Given the description of an element on the screen output the (x, y) to click on. 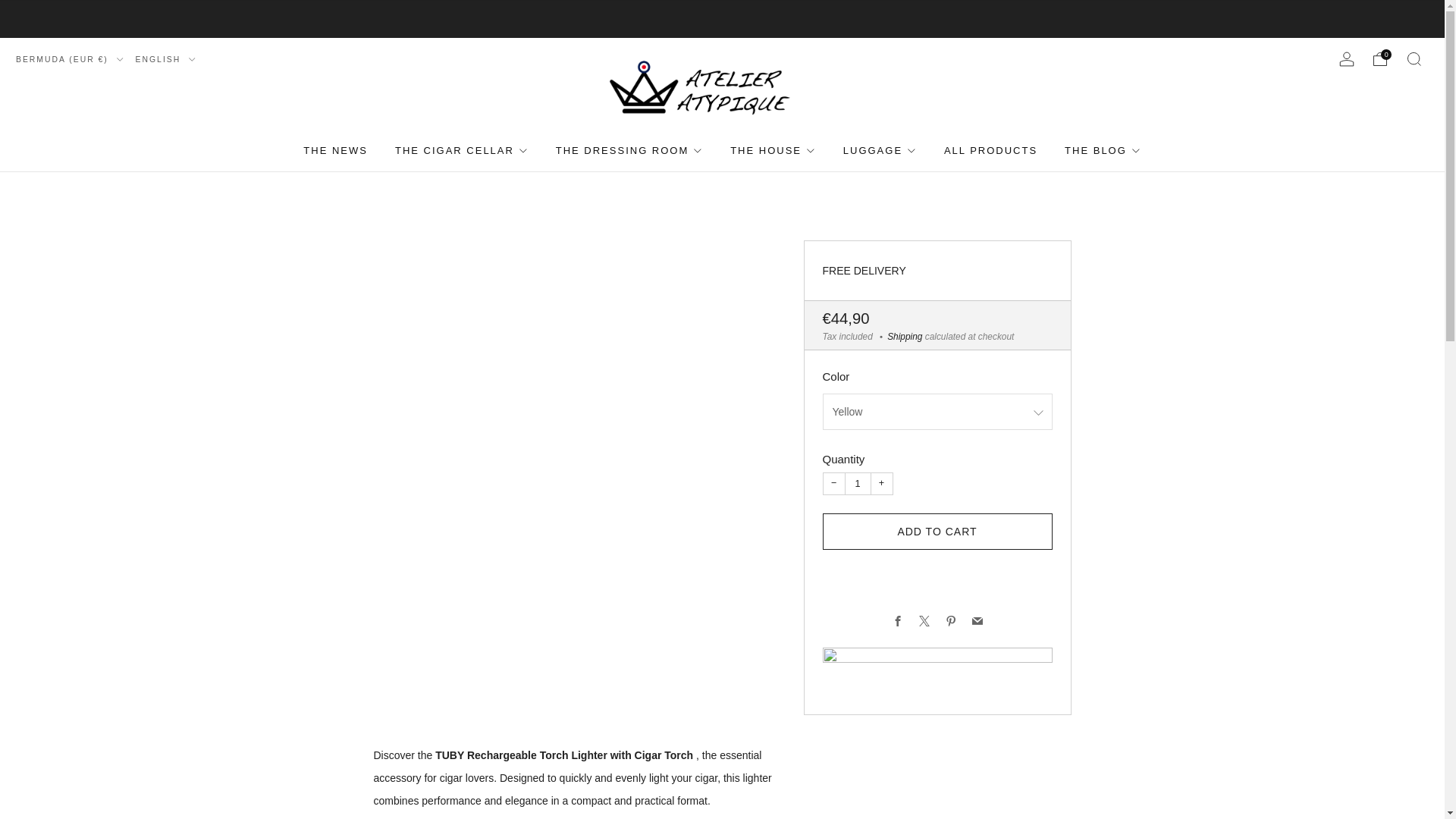
THE HOUSE (772, 150)
THE DRESSING ROOM (629, 150)
1 (857, 483)
THE BLOG (1102, 150)
THE CIGAR CELLAR (461, 150)
ALL PRODUCTS (989, 150)
THE NEWS (335, 150)
LUGGAGE (880, 150)
